Given the description of an element on the screen output the (x, y) to click on. 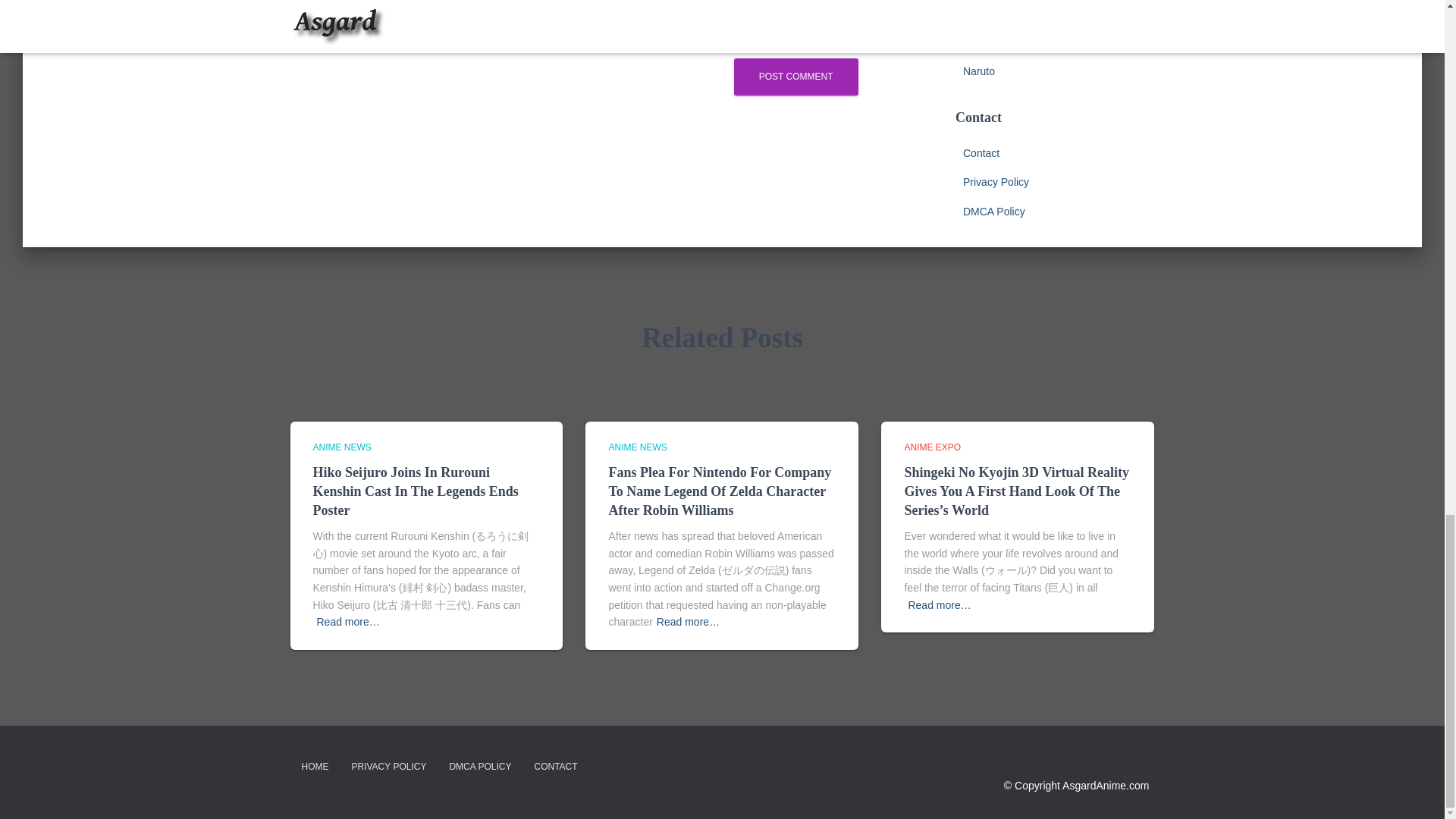
DMCA Policy (993, 211)
View all posts in Anime News (637, 447)
Naruto (978, 70)
ANIME NEWS (342, 447)
ANIME EXPO (932, 447)
ANIME NEWS (637, 447)
Manga (978, 41)
View all posts in Anime News (342, 447)
Post Comment (796, 76)
Cosplay (981, 12)
Privacy Policy (995, 182)
Post Comment (796, 76)
View all posts in Anime Expo (932, 447)
